Given the description of an element on the screen output the (x, y) to click on. 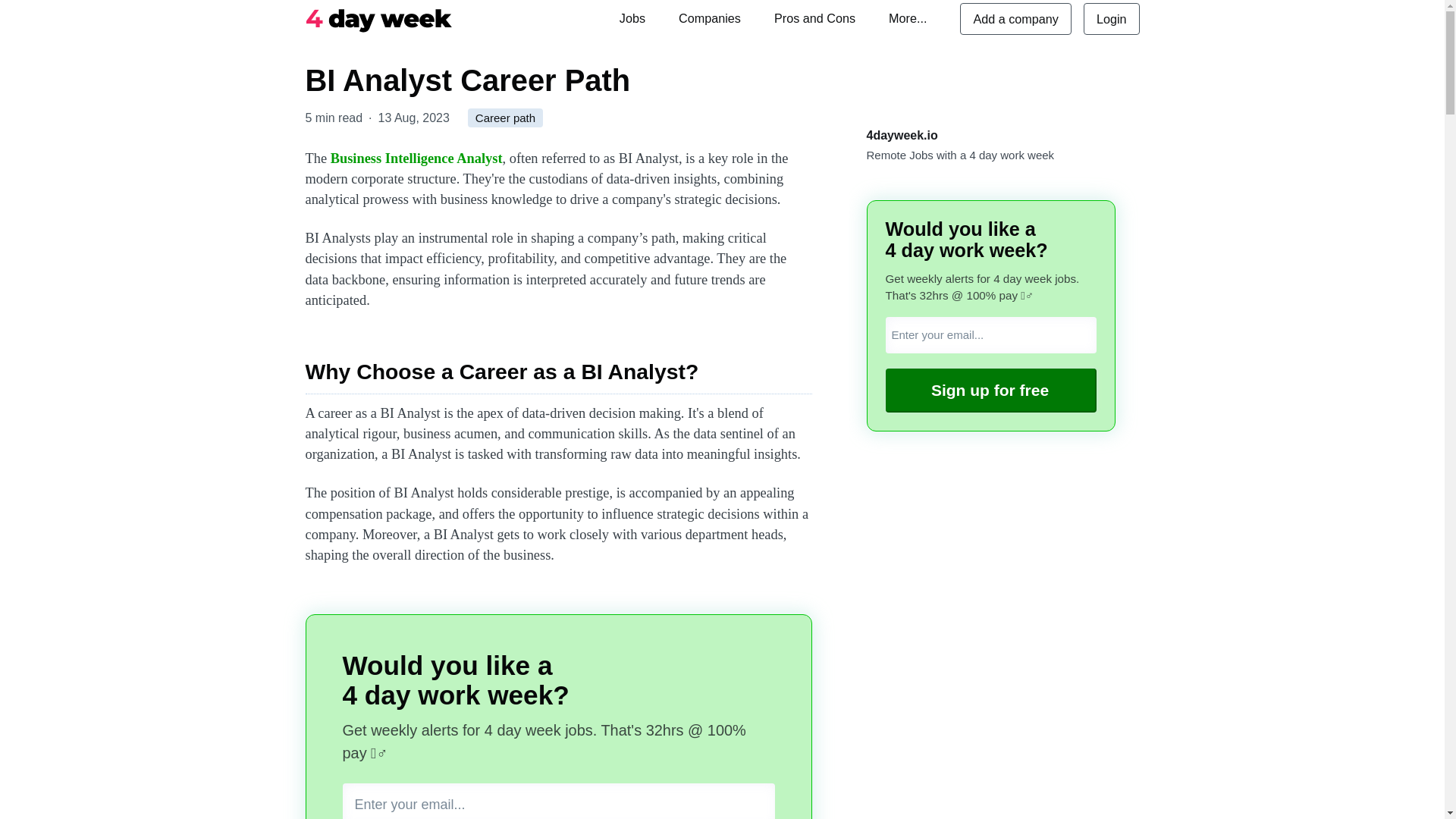
Companies (709, 18)
Pros and Cons (814, 18)
More... (907, 18)
Jobs (632, 18)
